Given the description of an element on the screen output the (x, y) to click on. 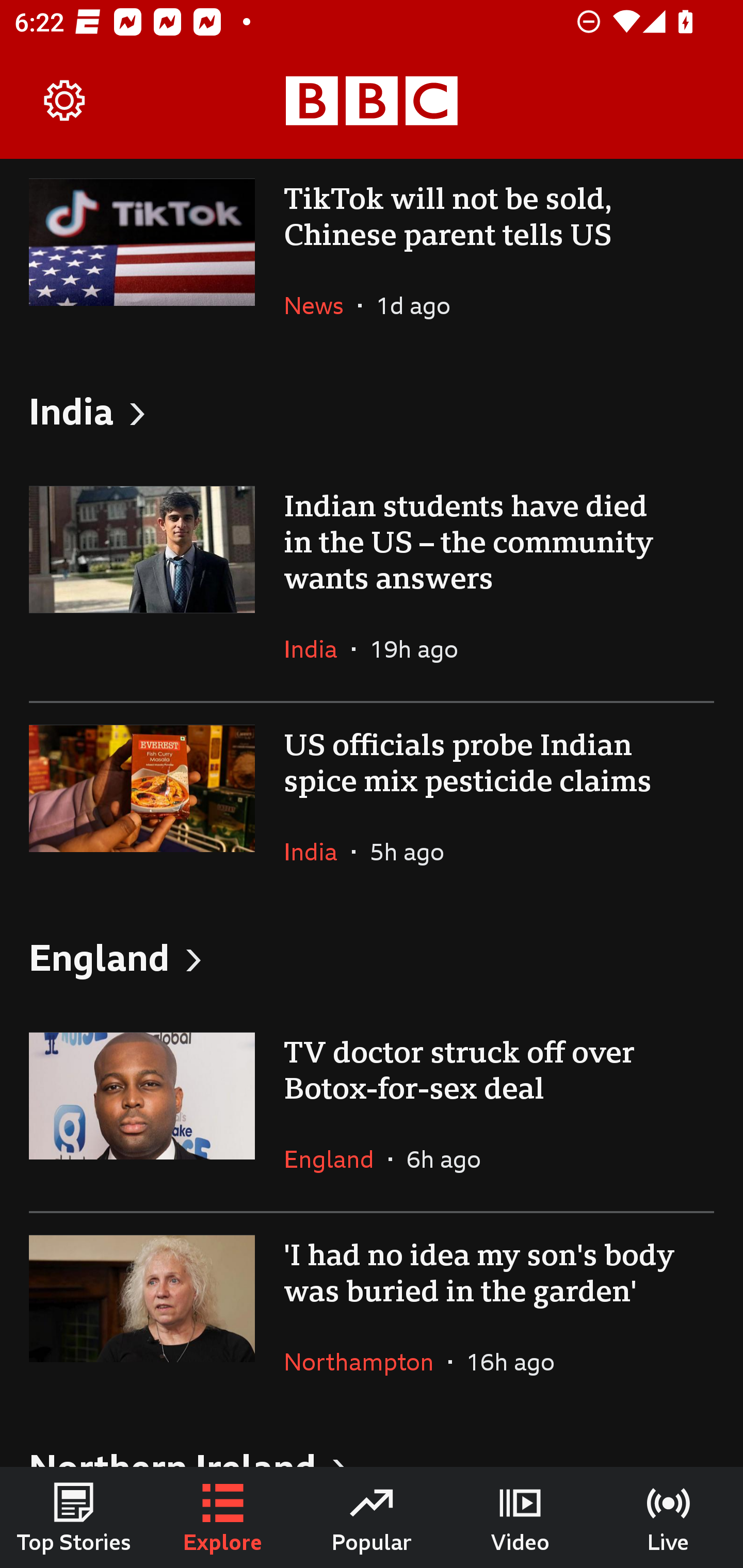
Settings (64, 100)
News In the section News (320, 305)
India, Heading India    (371, 410)
India In the section India (317, 648)
India In the section India (317, 851)
England, Heading England    (371, 956)
England In the section England (335, 1158)
Northampton In the section Northampton (365, 1361)
Top Stories (74, 1517)
Popular (371, 1517)
Video (519, 1517)
Live (668, 1517)
